Given the description of an element on the screen output the (x, y) to click on. 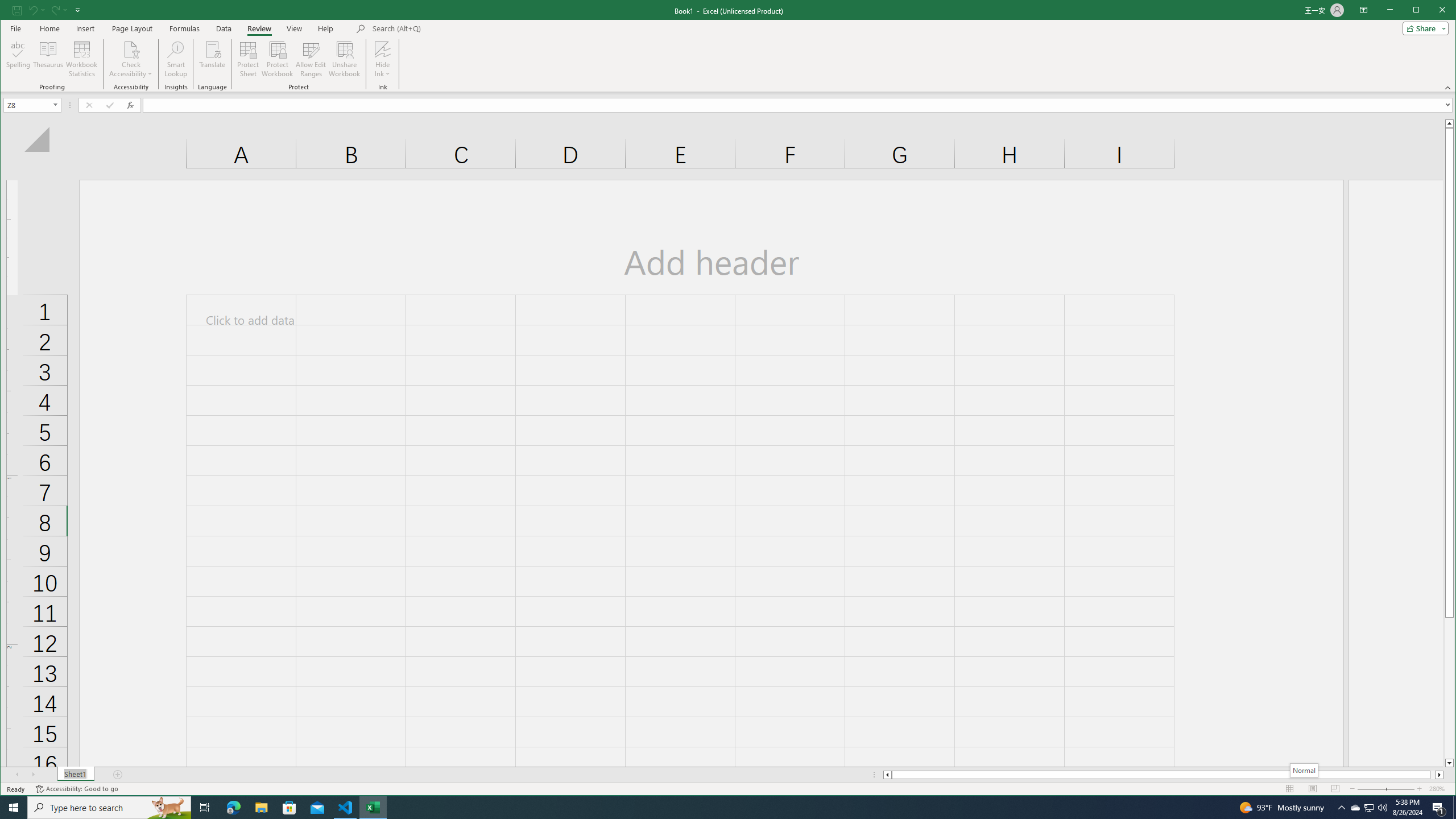
Protect Workbook... (277, 59)
Allow Edit Ranges (310, 59)
Line up (1449, 122)
Class: MsoCommandBar (728, 45)
Start (13, 807)
Add Sheet (118, 774)
Zoom In (1419, 788)
Share (1422, 27)
Protect Sheet... (247, 59)
Microsoft Store (289, 807)
Ribbon Display Options (1364, 9)
Microsoft search (451, 28)
